Given the description of an element on the screen output the (x, y) to click on. 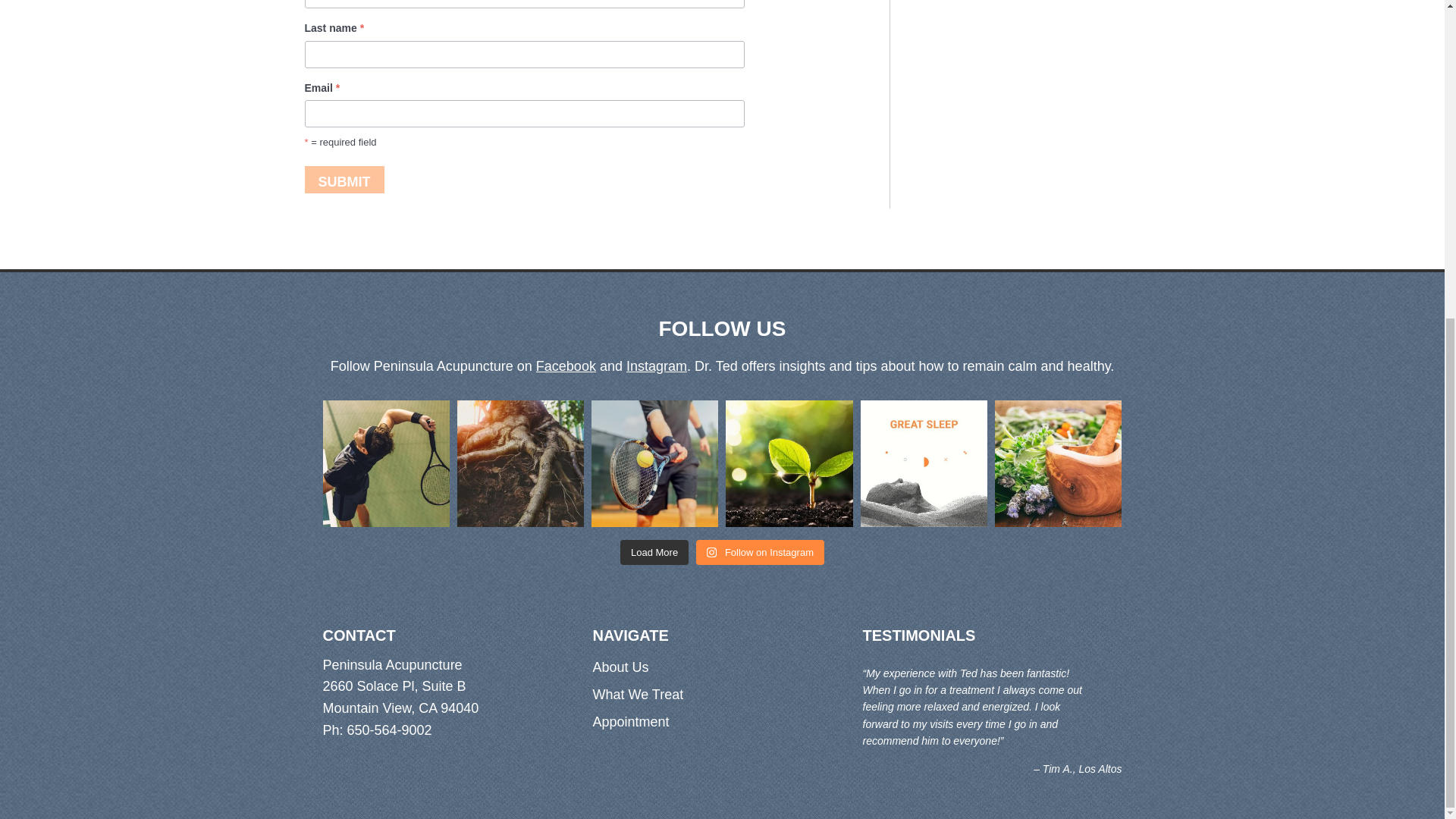
Submit (344, 179)
